Given the description of an element on the screen output the (x, y) to click on. 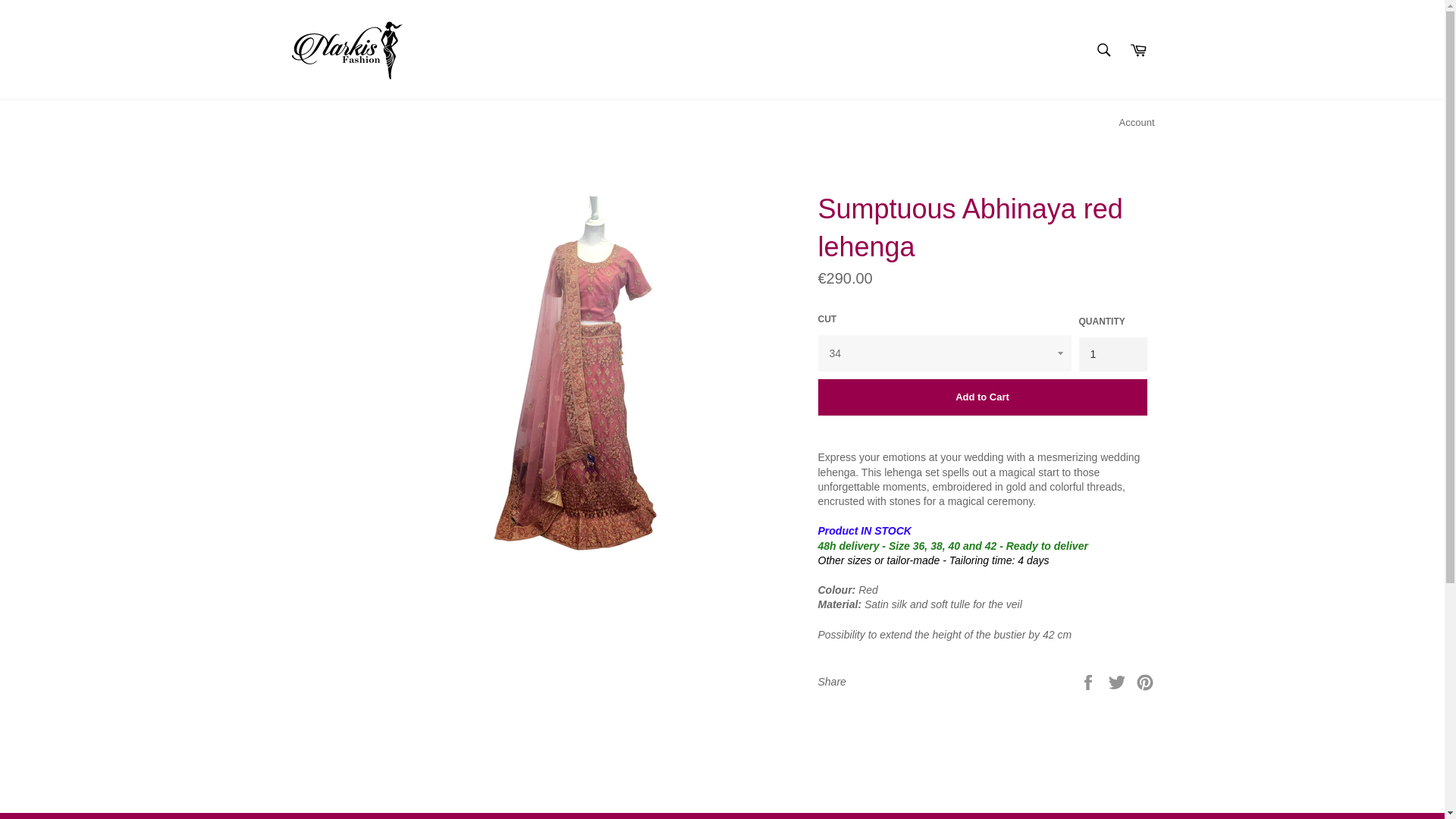
1 (1112, 354)
Pin on Pinterest (1144, 681)
Research (1103, 49)
Tweet on Twitter (1118, 681)
Share on Facebook (1089, 681)
Basket (1138, 49)
